Given the description of an element on the screen output the (x, y) to click on. 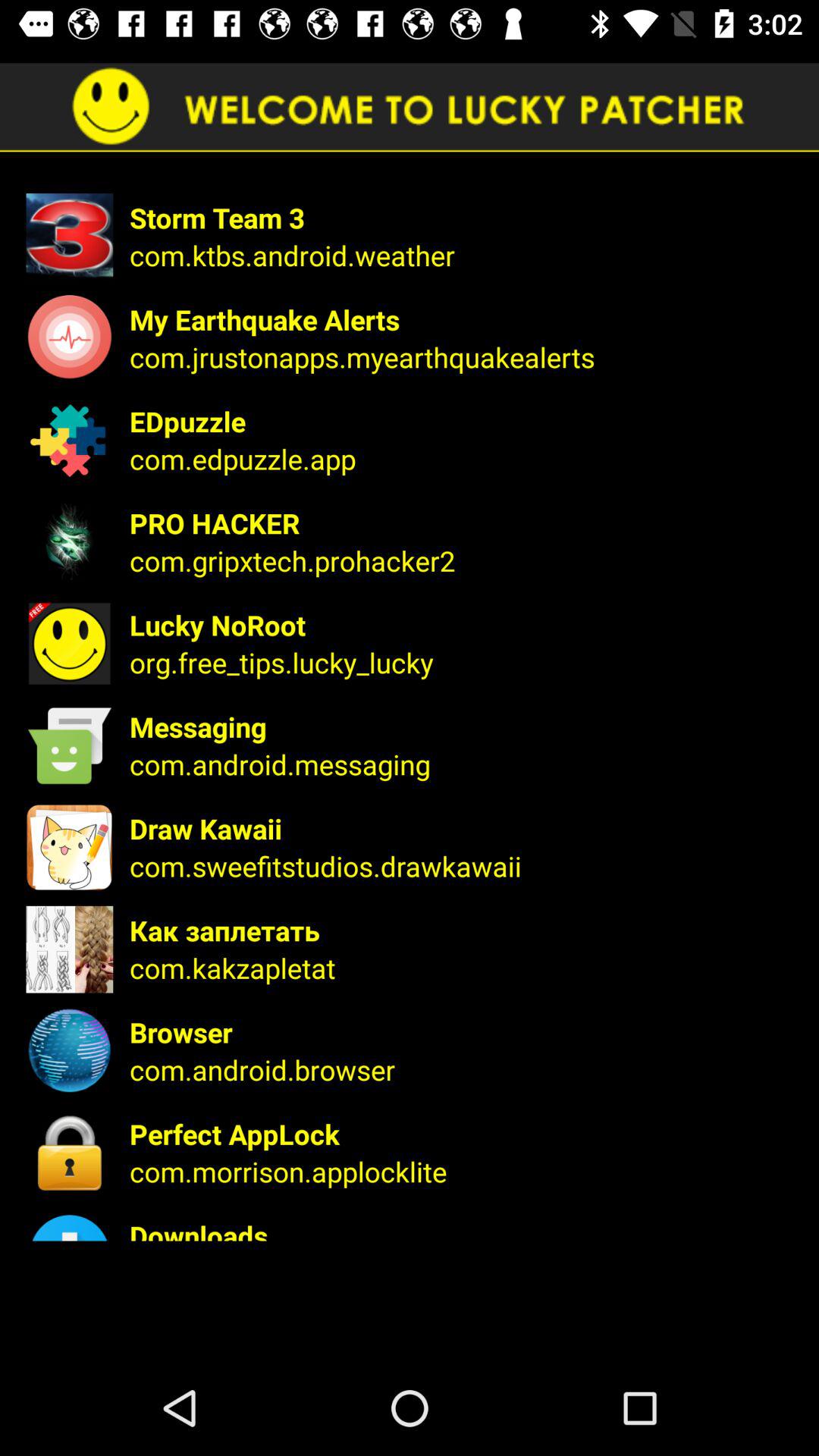
launch the storm team 3 (464, 217)
